Given the description of an element on the screen output the (x, y) to click on. 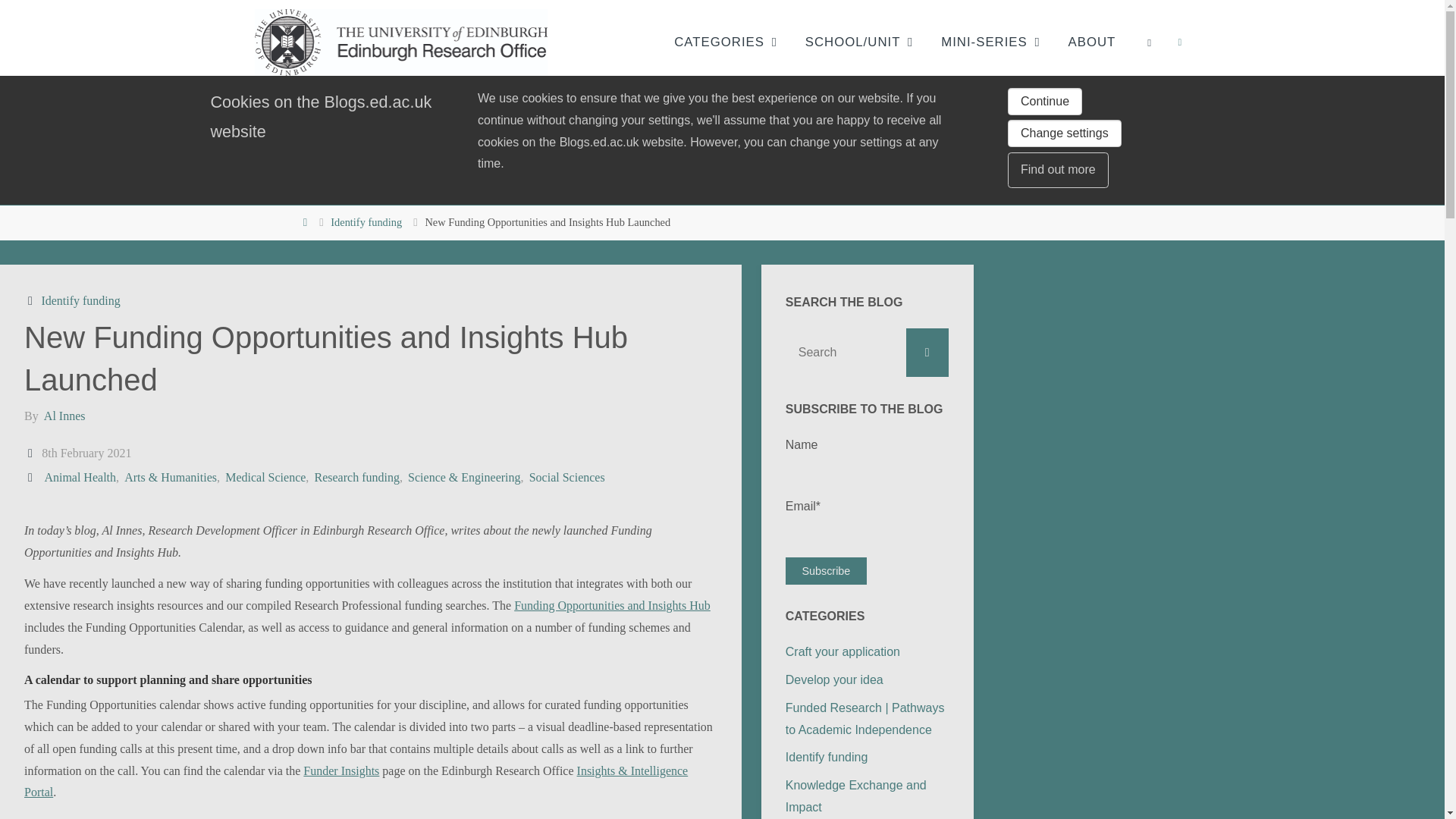
Subscribe (826, 570)
View all posts by Al Innes (63, 415)
Change settings (1064, 133)
Tagged (31, 477)
Continue (1044, 101)
Date (31, 452)
Categories (31, 300)
Find out more (1057, 170)
CATEGORIES (718, 41)
